Given the description of an element on the screen output the (x, y) to click on. 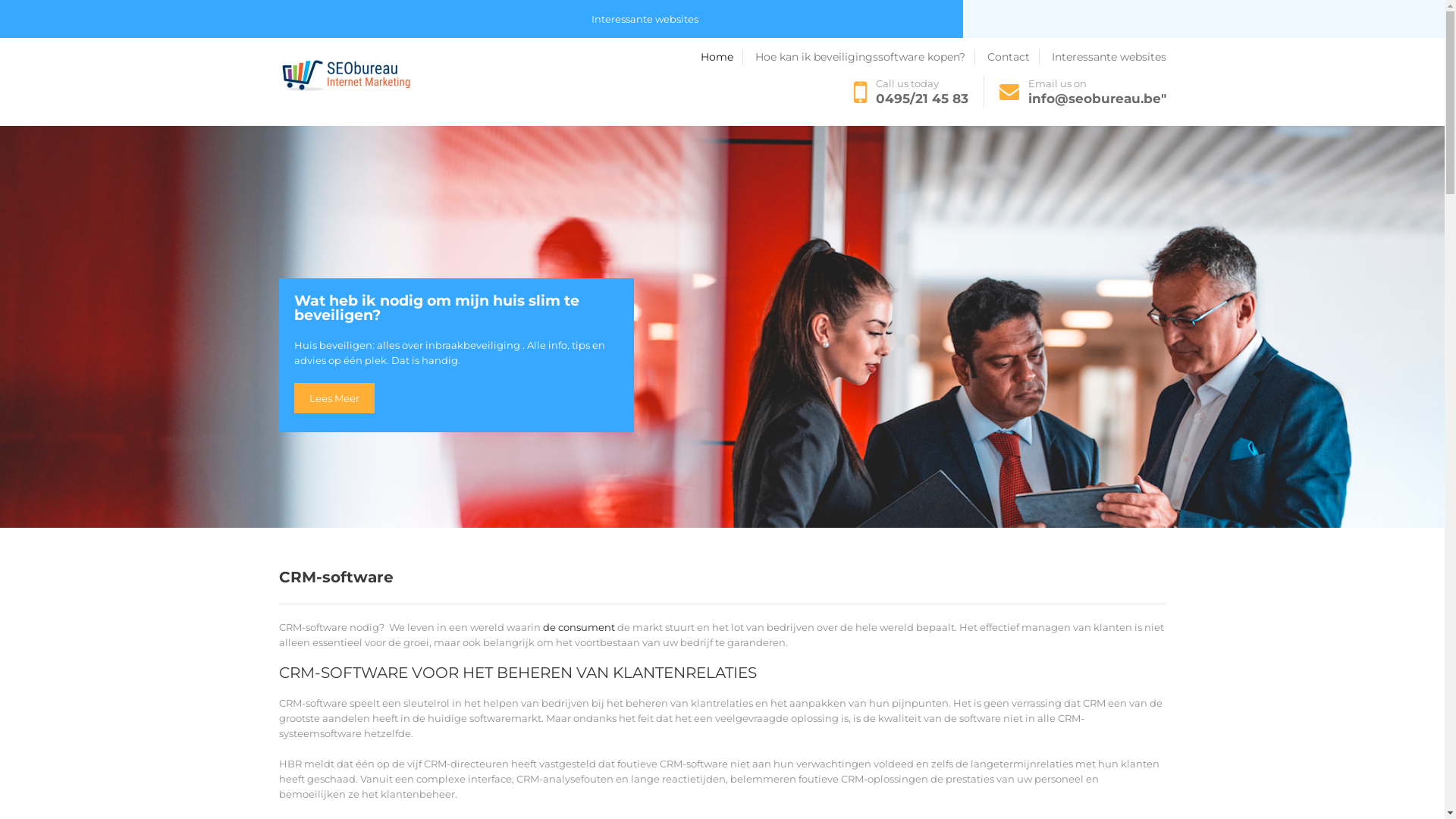
Hoe kiest u voor betrouwbare beveiligingsservices? Element type: text (717, 57)
Hoe kan ik beveiligingssoftware kopen? Element type: text (426, 57)
Lees Meer Element type: text (334, 397)
Home Element type: text (721, 56)
Wat heb ik nodig om mijn huis slim te beveiligen? Element type: text (456, 316)
info@seobureau.be" Element type: text (1097, 98)
Hoe kan ik beveiligingssoftware kopen? Element type: text (865, 56)
Wat is SharePoint? Element type: text (898, 57)
Contact Element type: text (559, 57)
Contact Element type: text (1013, 56)
de consument Element type: text (578, 627)
Interessante websites Element type: text (1108, 56)
Home Element type: text (297, 57)
Interessante websites Element type: text (644, 19)
